Given the description of an element on the screen output the (x, y) to click on. 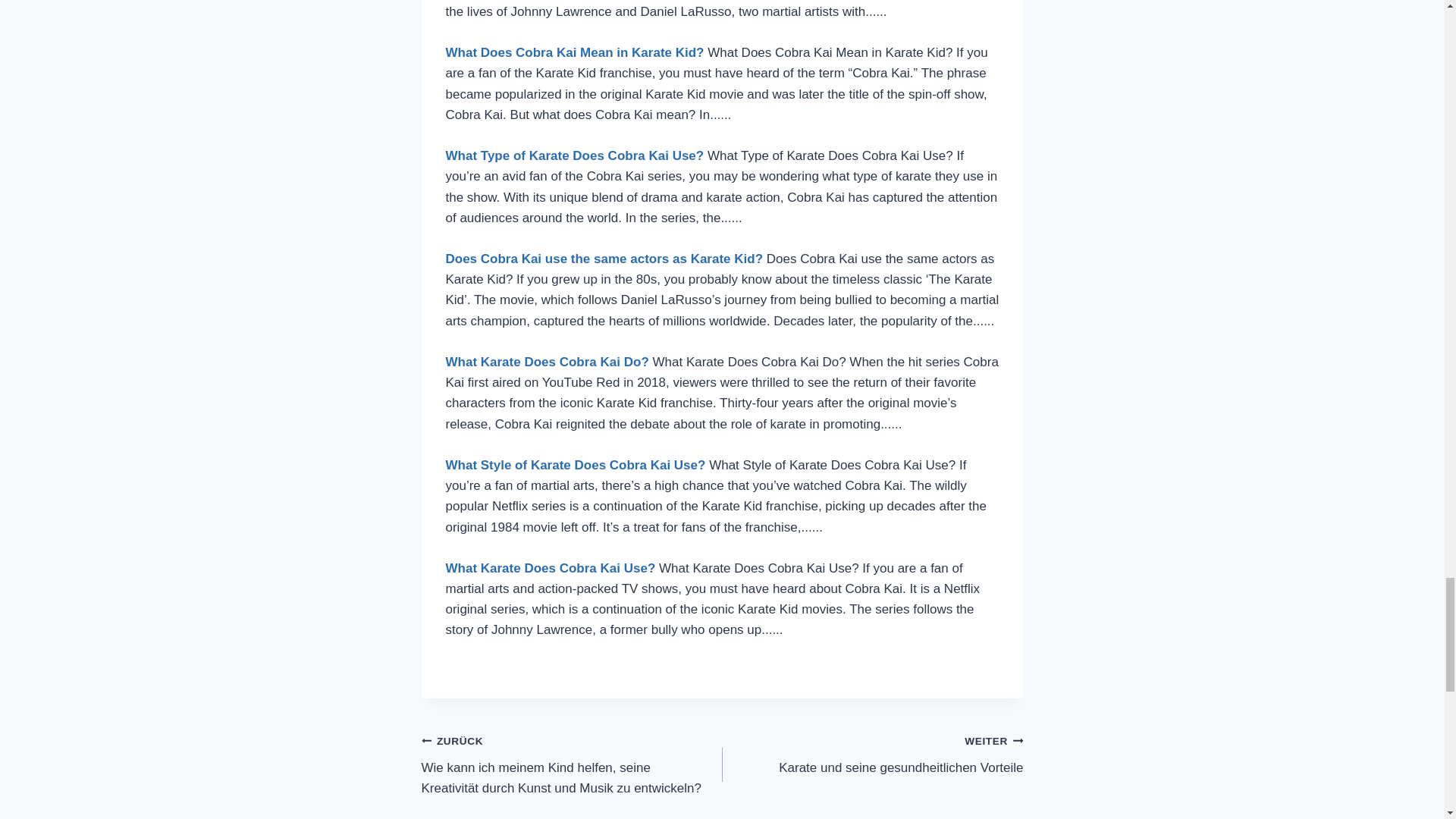
What Type of Karate Does Cobra Kai Use? (574, 155)
What Karate Does Cobra Kai Do? (547, 361)
What Does Cobra Kai Mean in Karate Kid? (872, 754)
What Style of Karate Does Cobra Kai Use? (574, 52)
What Karate Does Cobra Kai Use? (575, 464)
Does Cobra Kai use the same actors as Karate Kid? (550, 568)
